Given the description of an element on the screen output the (x, y) to click on. 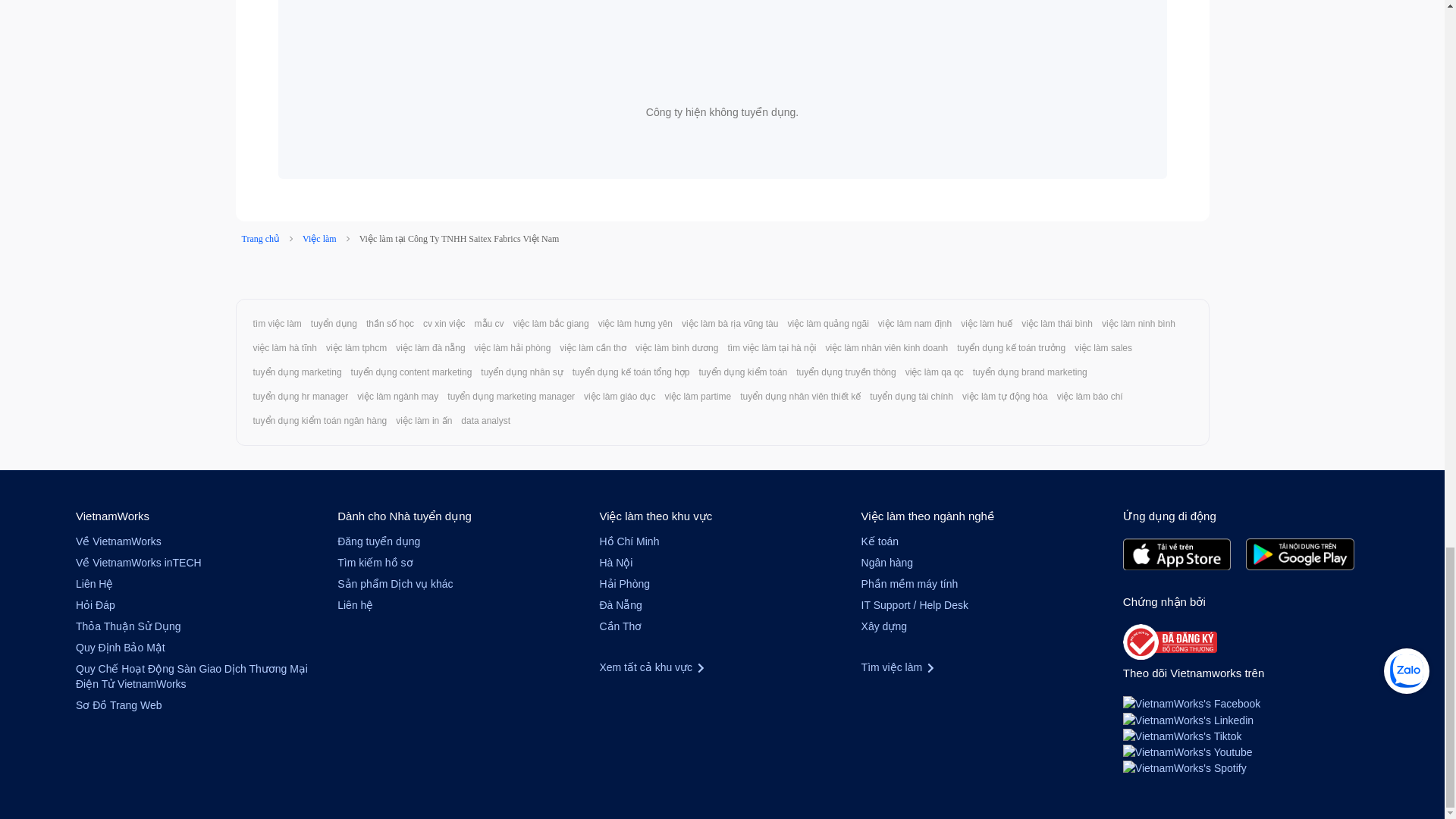
VietnamWorks's Linkedin (1187, 718)
VietnamWorks's Tiktok (1181, 735)
VietnamWorks's Facebook (1191, 702)
